Given the description of an element on the screen output the (x, y) to click on. 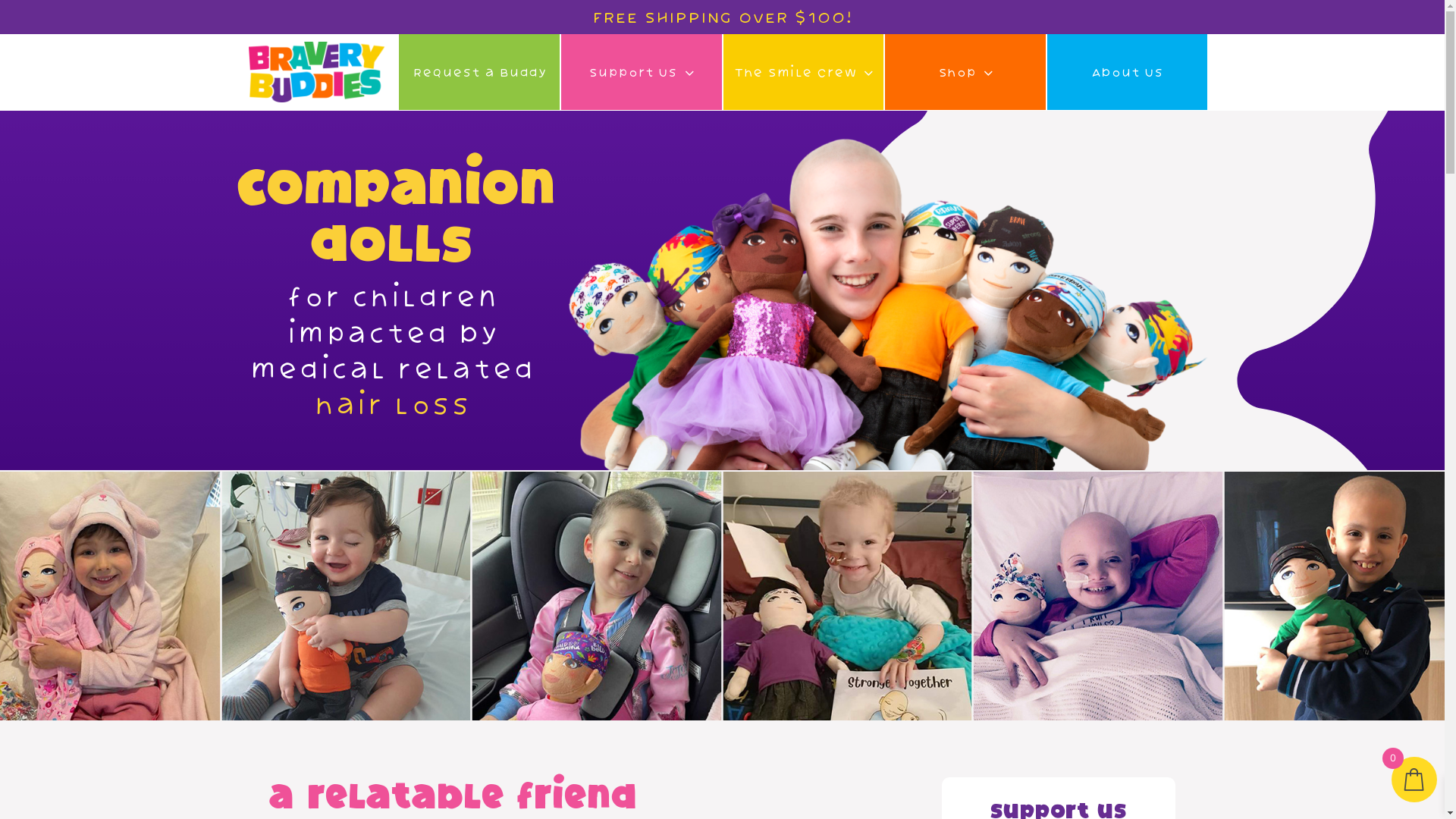
The Smile Crew Element type: text (803, 71)
Shop Element type: text (965, 71)
FREE SHIPPING OVER $100! Element type: text (721, 17)
Kyla Element type: hover (887, 301)
Support Us Element type: text (640, 71)
About Us Element type: text (1127, 71)
Request a Buddy Element type: text (479, 71)
